Given the description of an element on the screen output the (x, y) to click on. 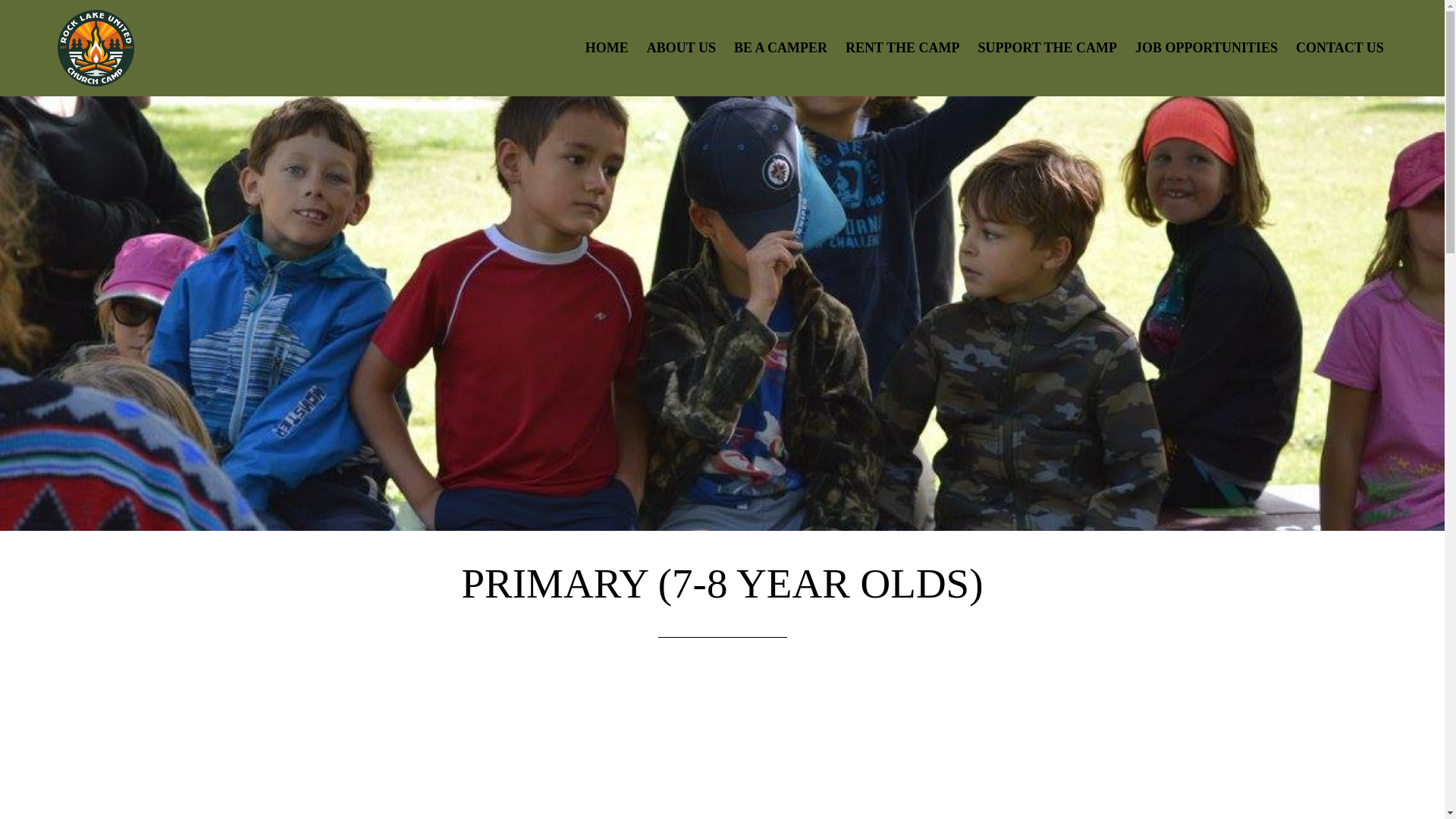
BE A CAMPER (779, 47)
HOME (606, 47)
RENT THE CAMP (902, 47)
CONTACT US (1339, 47)
SUPPORT THE CAMP (1046, 47)
JOB OPPORTUNITIES (1206, 47)
ABOUT US (681, 47)
